Given the description of an element on the screen output the (x, y) to click on. 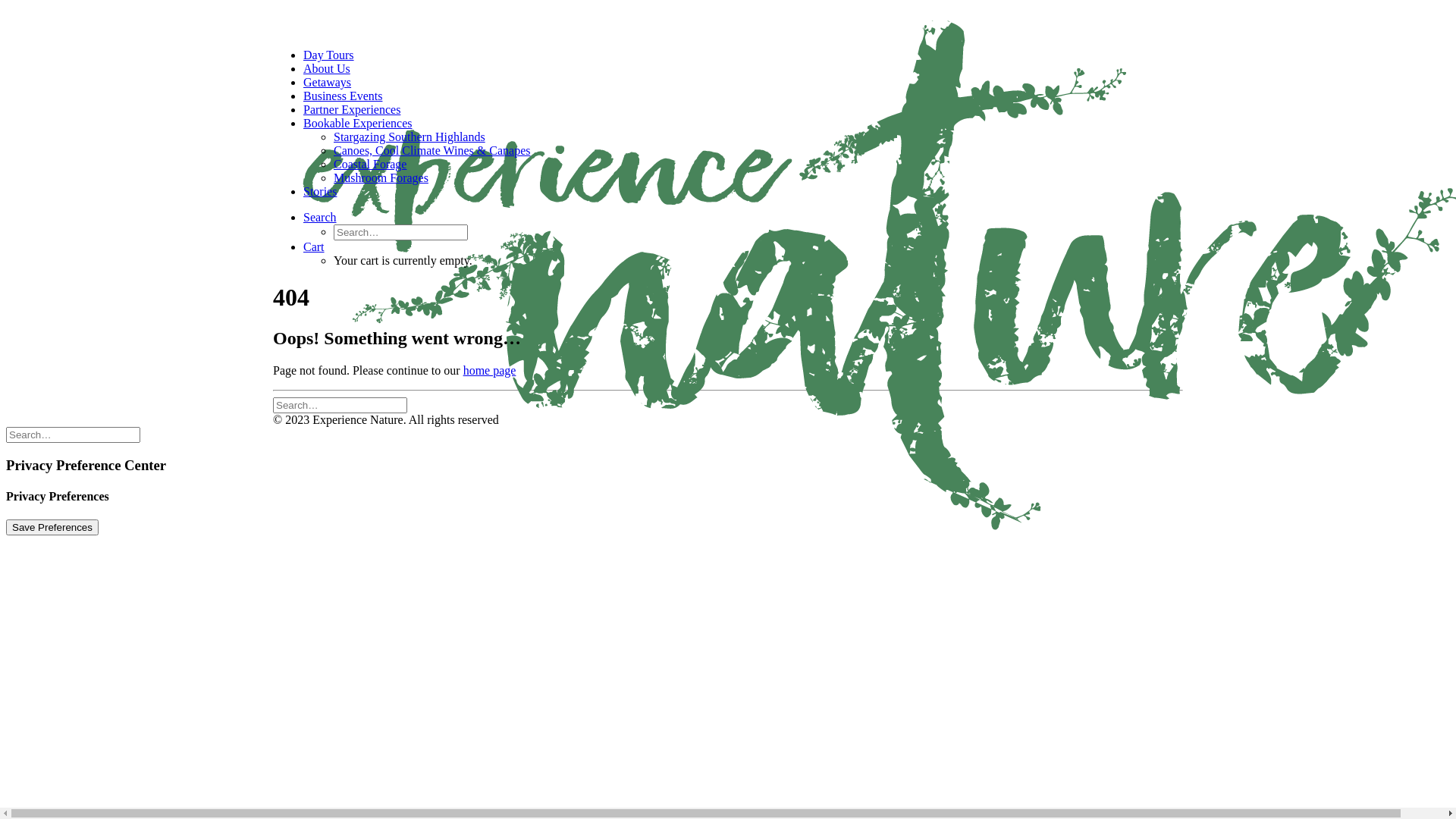
Canoes, Cool Climate Wines & Canapes Element type: text (431, 150)
Coastal Forage Element type: text (369, 163)
Day Tours Element type: text (328, 54)
Cart Element type: text (313, 246)
Save Preferences Element type: text (52, 527)
Partner Experiences Element type: text (351, 109)
Search for: Element type: hover (73, 434)
Bookable Experiences Element type: text (357, 122)
Stories Element type: text (319, 191)
Search Element type: text (319, 216)
home page Element type: text (489, 370)
Search for: Element type: hover (340, 405)
Getaways Element type: text (327, 81)
Stargazing Southern Highlands Element type: text (409, 136)
Mushroom Forages Element type: text (380, 177)
Business Events Element type: text (342, 95)
About Us Element type: text (326, 68)
